Given the description of an element on the screen output the (x, y) to click on. 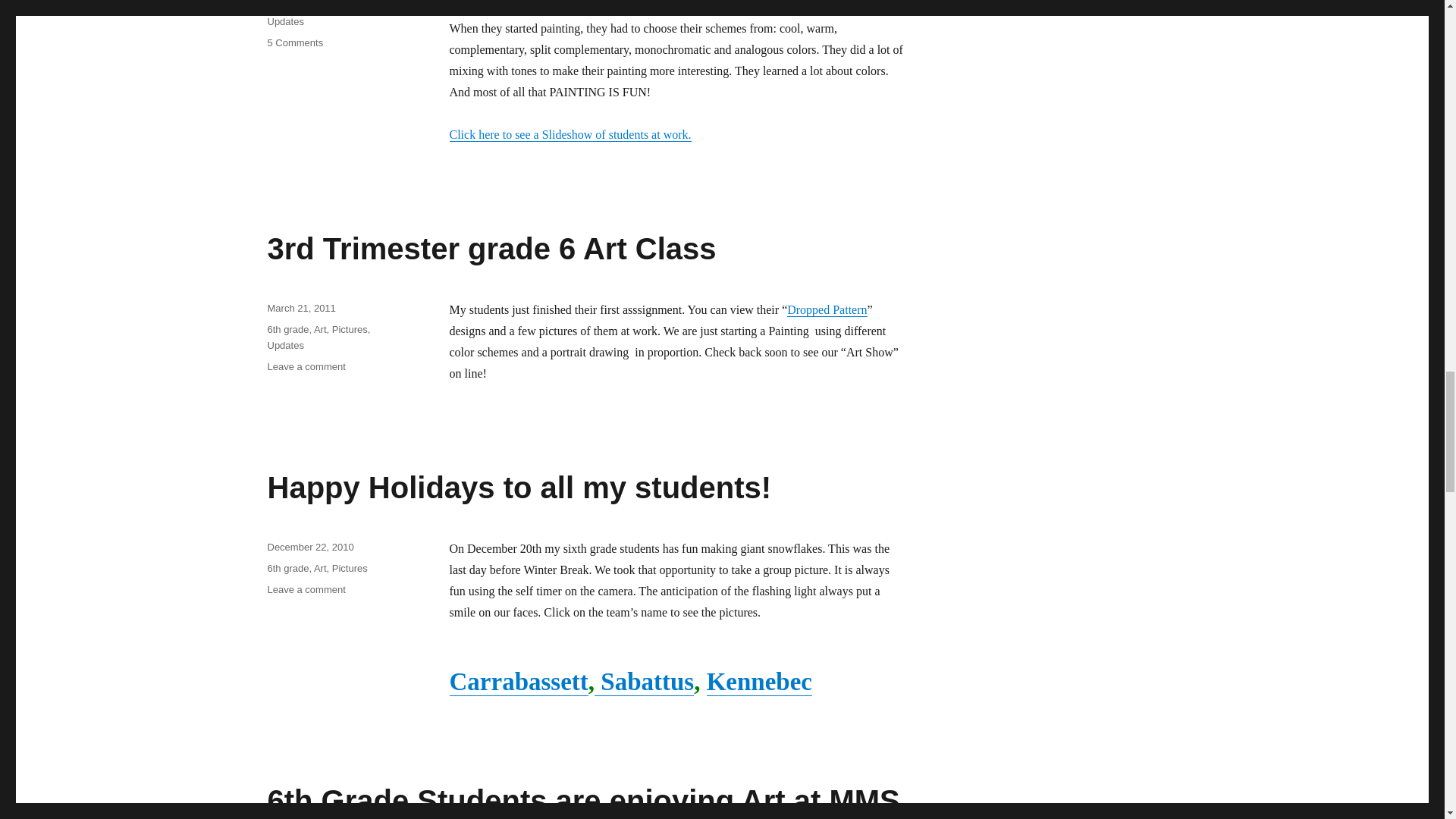
Kennebec (759, 681)
Sabattus (644, 681)
Carrabassett (518, 681)
